Given the description of an element on the screen output the (x, y) to click on. 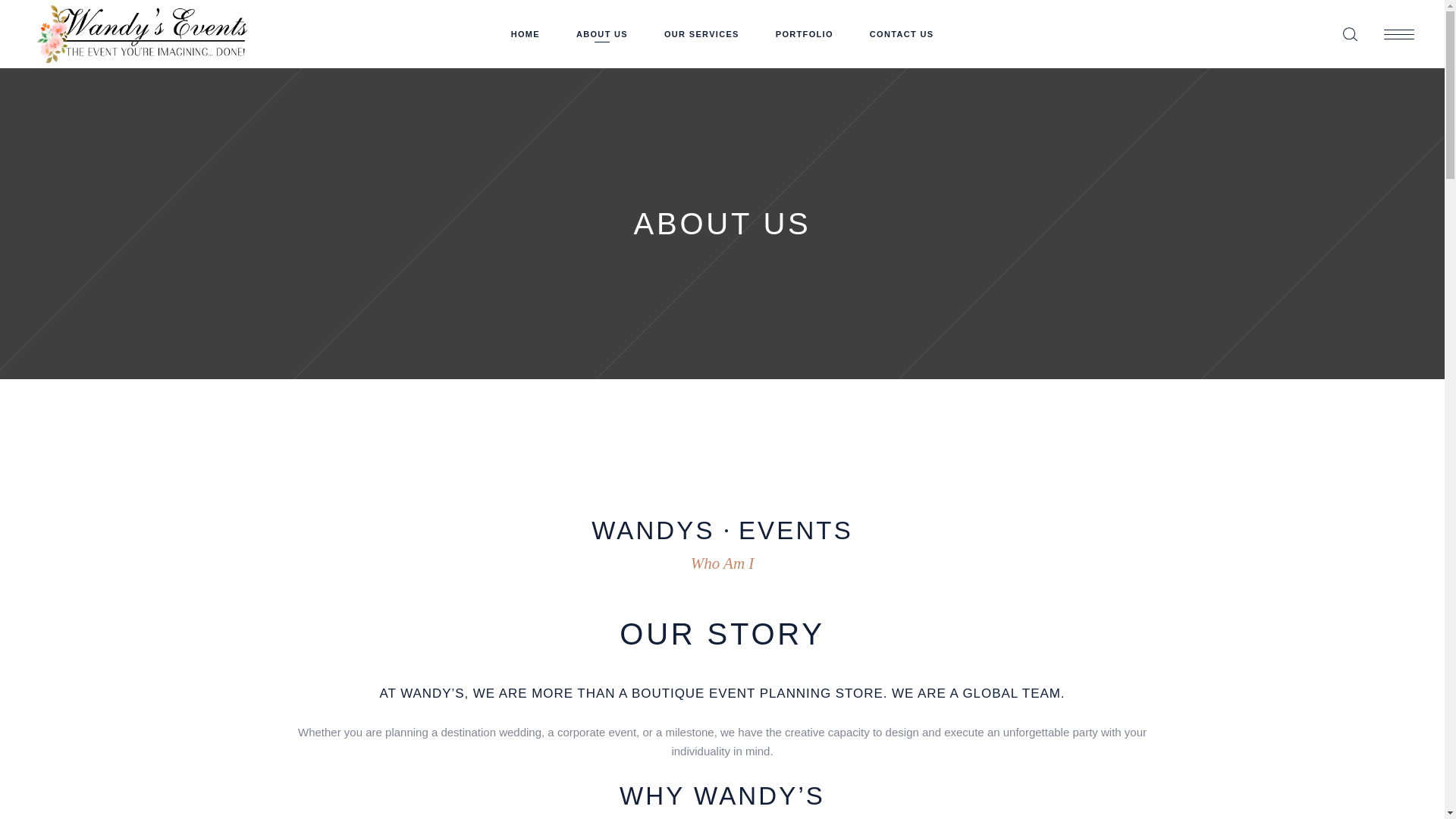
PORTFOLIO (804, 34)
OUR SERVICES (701, 34)
HOME (525, 34)
ABOUT US (601, 34)
CONTACT US (901, 34)
